Given the description of an element on the screen output the (x, y) to click on. 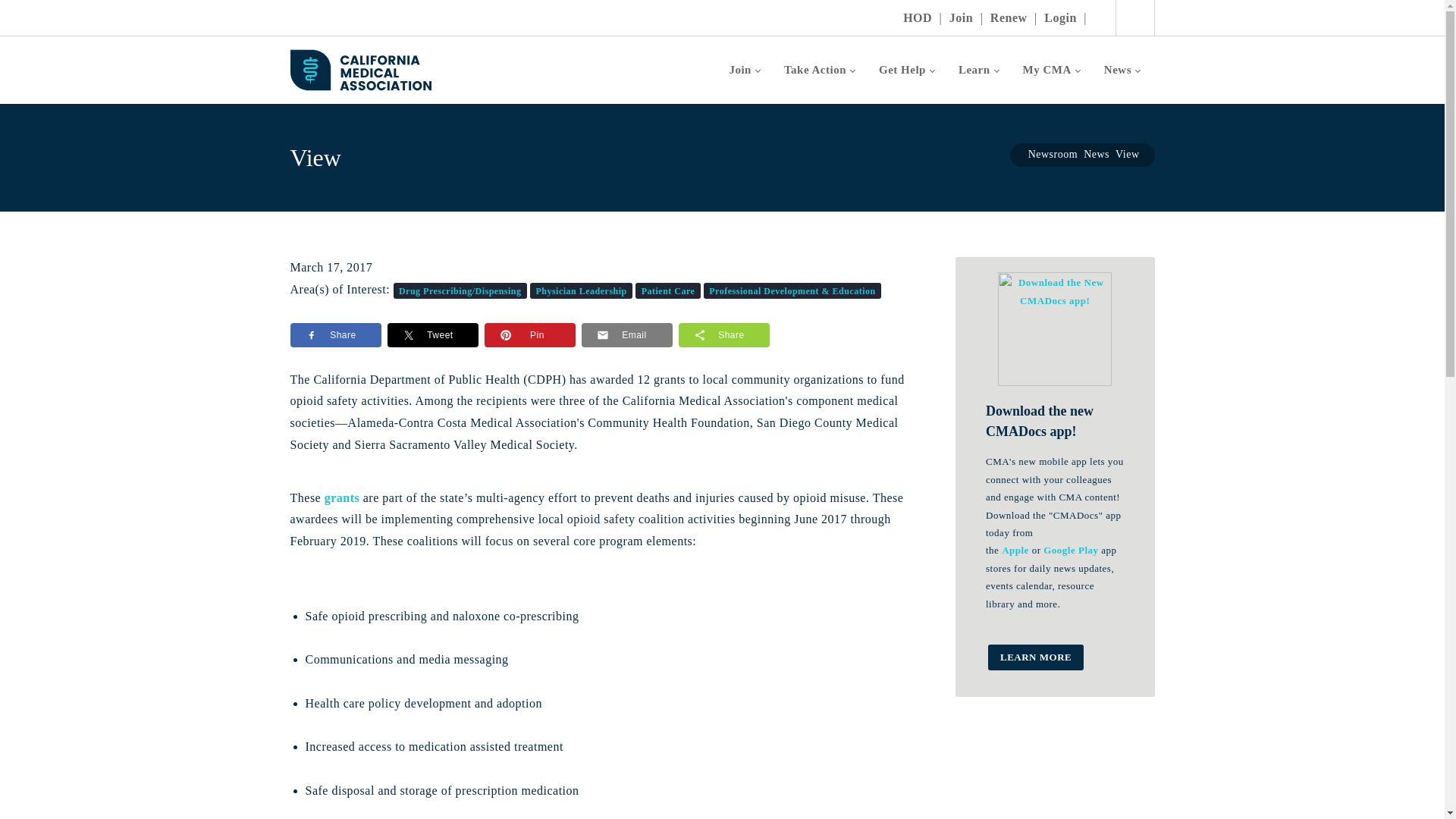
Login (1060, 16)
Login (1060, 16)
Learn (978, 69)
Take Action (819, 69)
Join (744, 69)
HOD (916, 16)
Join (960, 16)
Take Action (819, 69)
My CMA (1050, 69)
CMADocs (359, 68)
News (1122, 69)
Get Help (905, 69)
Join (744, 69)
Renew (1008, 16)
Get Help (905, 69)
